Given the description of an element on the screen output the (x, y) to click on. 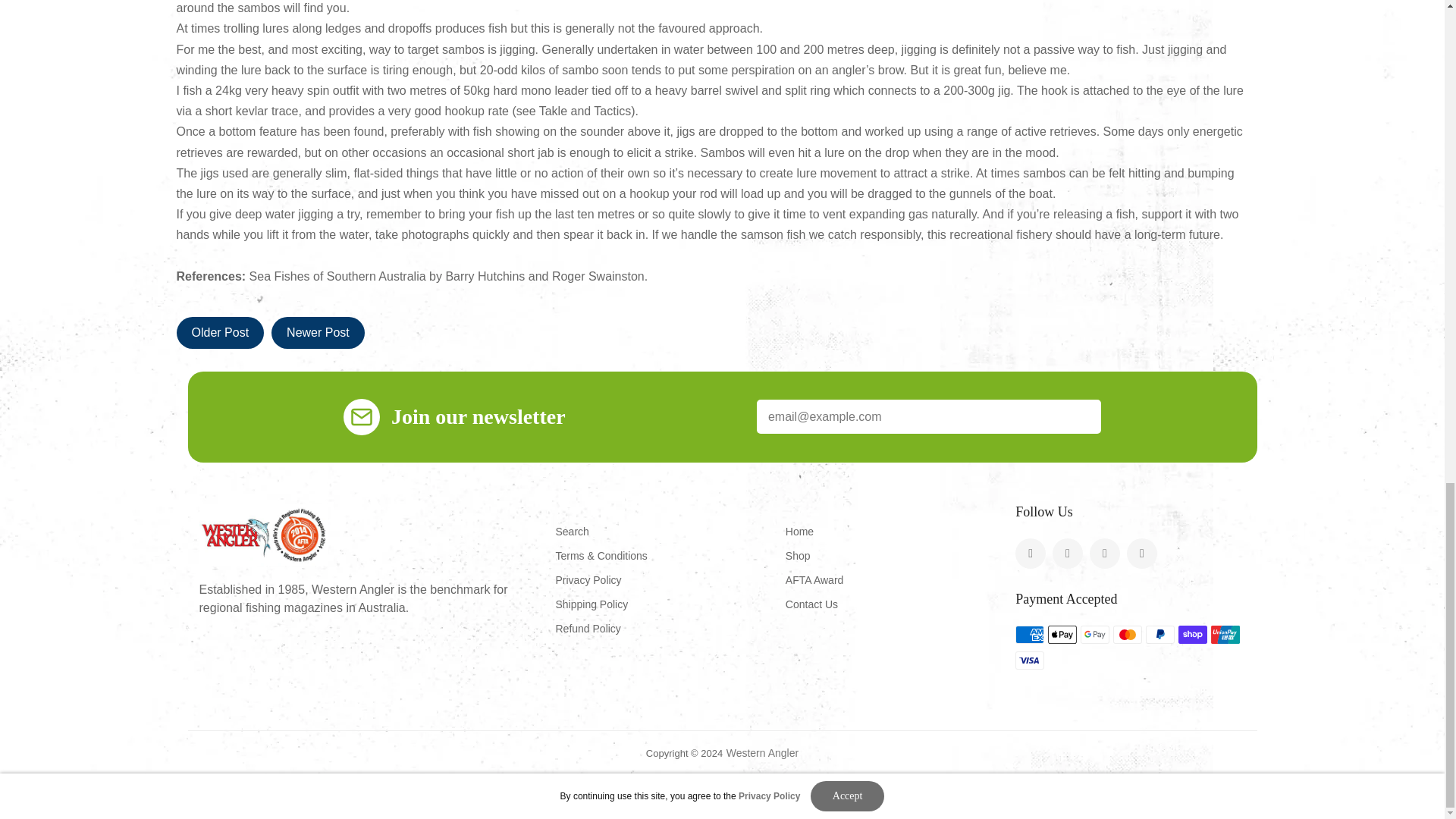
Union Pay (1225, 634)
Shop Pay (1192, 634)
Western Angler on YouTube (1141, 553)
Western Angler on Twitter (1029, 553)
Google Pay (1094, 634)
Mastercard (1127, 634)
Apple Pay (1062, 634)
Western Angler on Instagram (1104, 553)
PayPal (1159, 634)
American Express (1028, 634)
Visa (1028, 660)
Western Angler on Facebook (1067, 553)
